Given the description of an element on the screen output the (x, y) to click on. 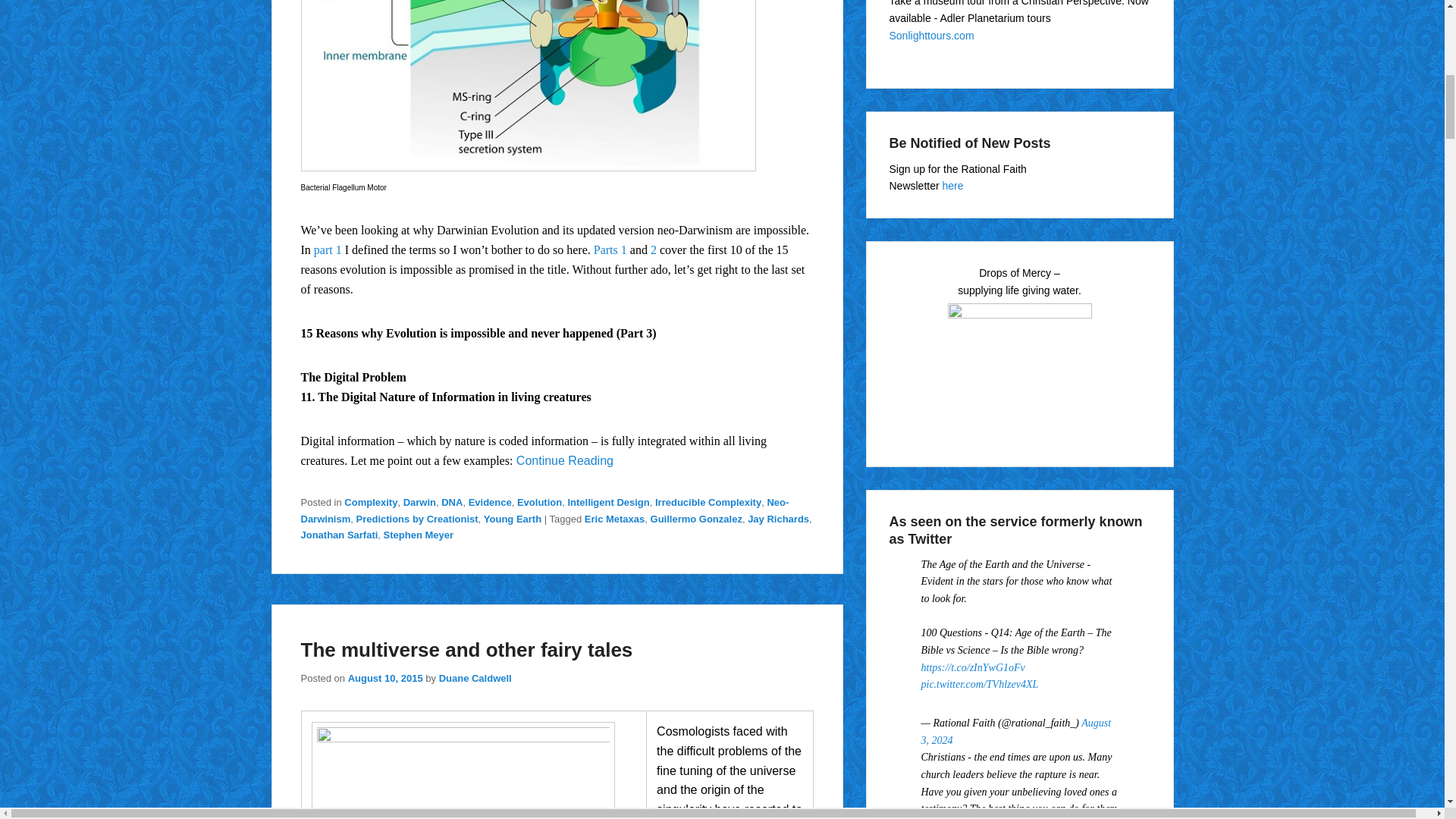
Permalink to The multiverse and other fairy tales (465, 649)
Evolution (539, 501)
part 1 (328, 249)
Intelligent Design (608, 501)
Evidence (490, 501)
Darwin (419, 501)
Irreducible Complexity (708, 501)
11:33 pm (385, 677)
Young Earth (512, 518)
View all posts by Duane Caldwell (475, 677)
